Given the description of an element on the screen output the (x, y) to click on. 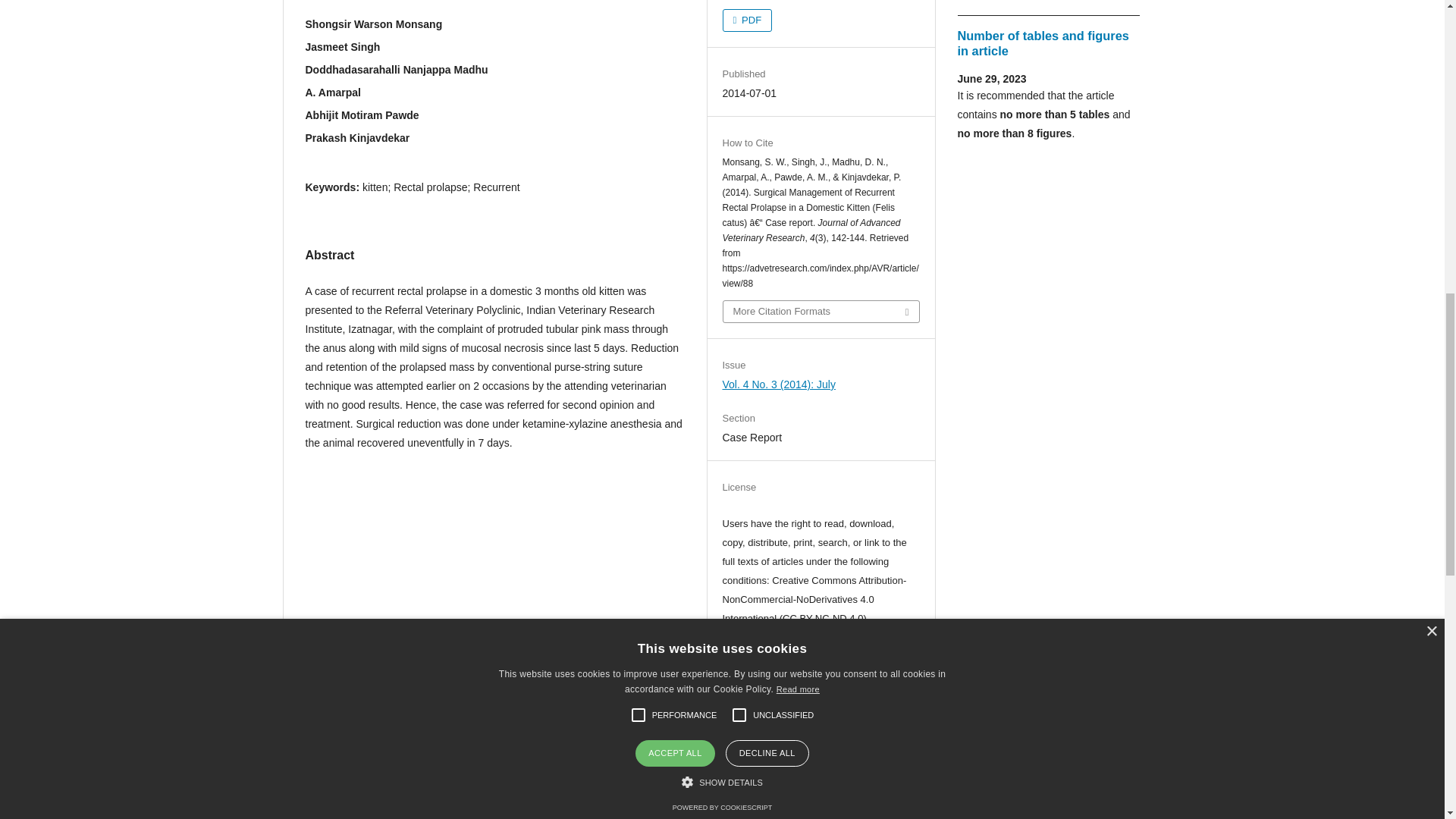
More Citation Formats (820, 311)
PDF (746, 20)
